Given the description of an element on the screen output the (x, y) to click on. 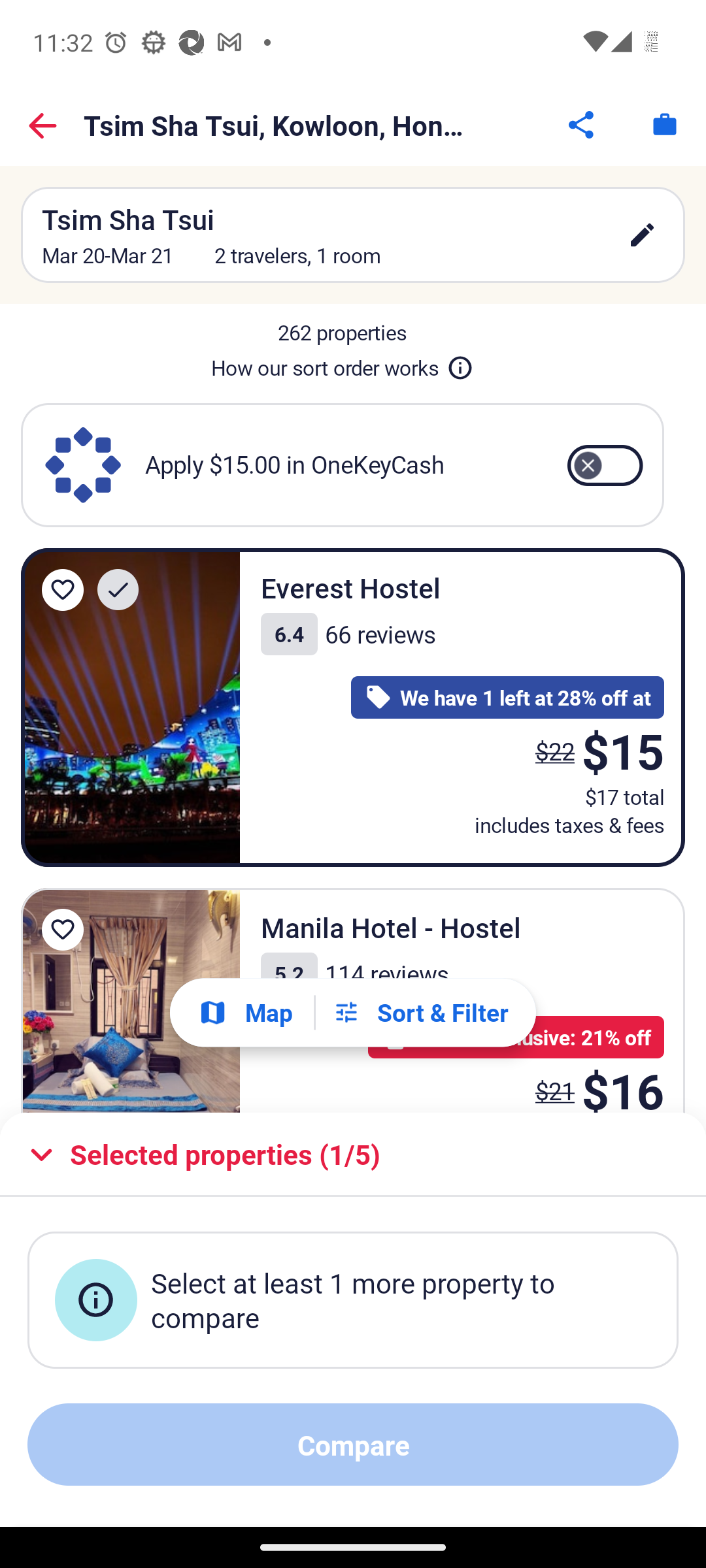
Share Button (582, 124)
Trips. Button (664, 124)
How our sort order works (342, 364)
Everest Hostel (130, 707)
Save Everest Hostel to a trip (62, 589)
$22 The price was $22 (554, 750)
Manila Hotel - Hostel (130, 1000)
Save Manila Hotel - Hostel to a trip (62, 929)
Filters Sort & Filter Filters Button (420, 1012)
Show map Map Show map Button (244, 1011)
$21 The price was $21 (554, 1081)
Compare Properties Compare (352, 1444)
